Given the description of an element on the screen output the (x, y) to click on. 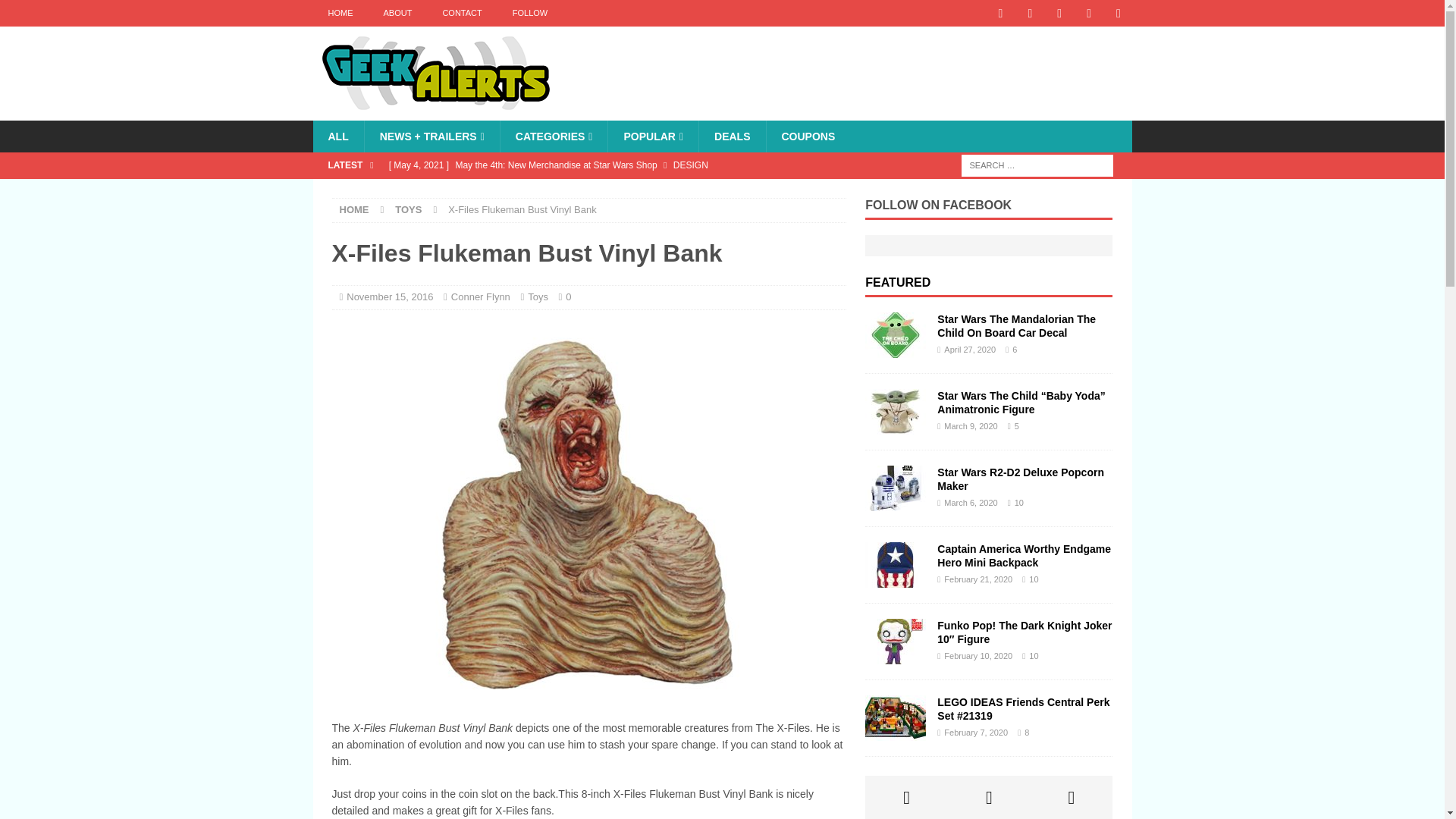
DEALS (731, 136)
ABOUT (398, 13)
Rick and Morty Get Shwifty Bluetooth Speaker (612, 190)
POPULAR (652, 136)
COUPONS (807, 136)
CATEGORIES (553, 136)
May the 4th: New Merchandise at Star Wars Shop (612, 165)
FOLLOW (529, 13)
ALL (337, 136)
CONTACT (461, 13)
HOME (354, 209)
HOME (340, 13)
Search (56, 11)
